Given the description of an element on the screen output the (x, y) to click on. 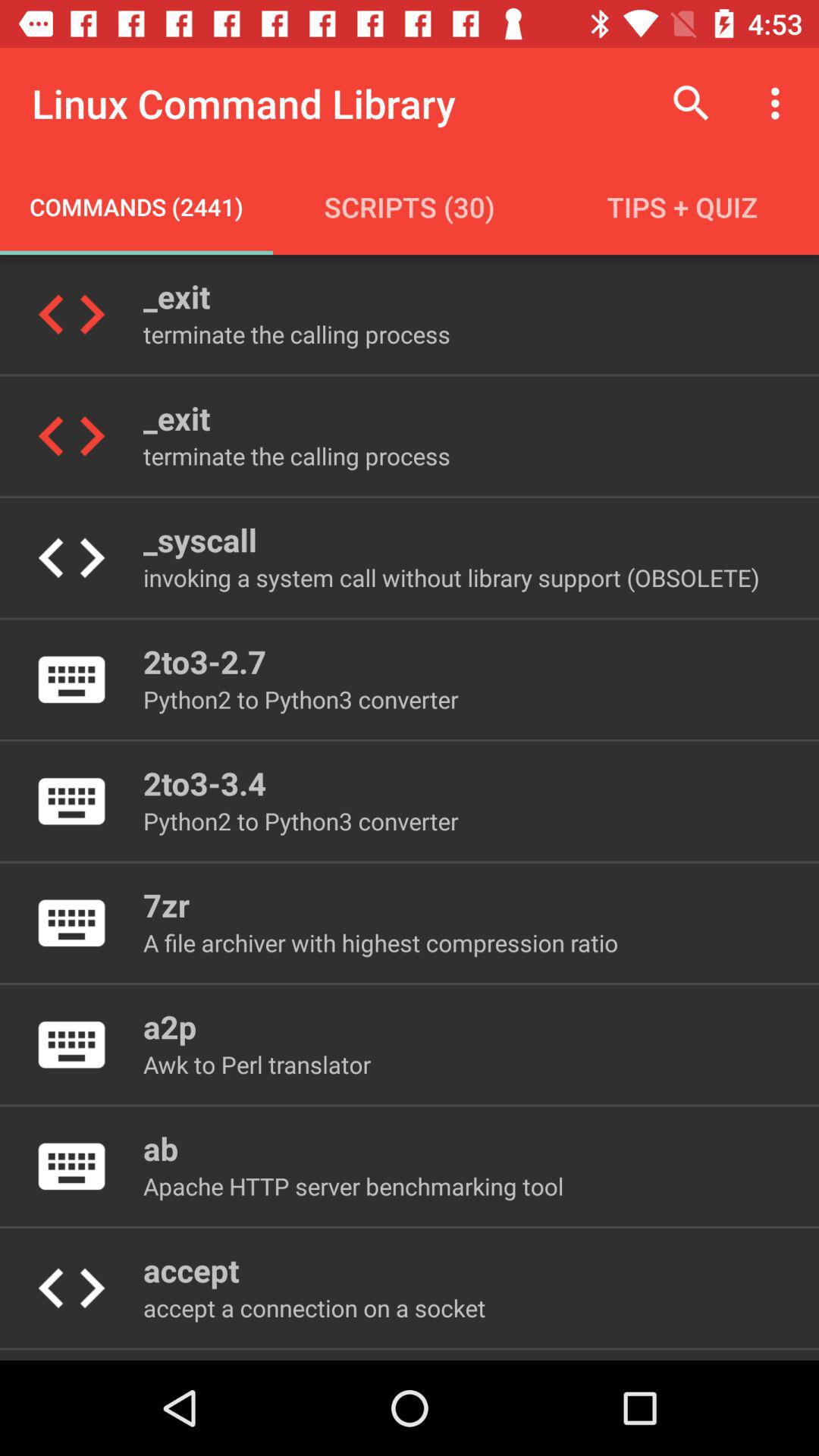
open item next to the linux command library icon (691, 103)
